Given the description of an element on the screen output the (x, y) to click on. 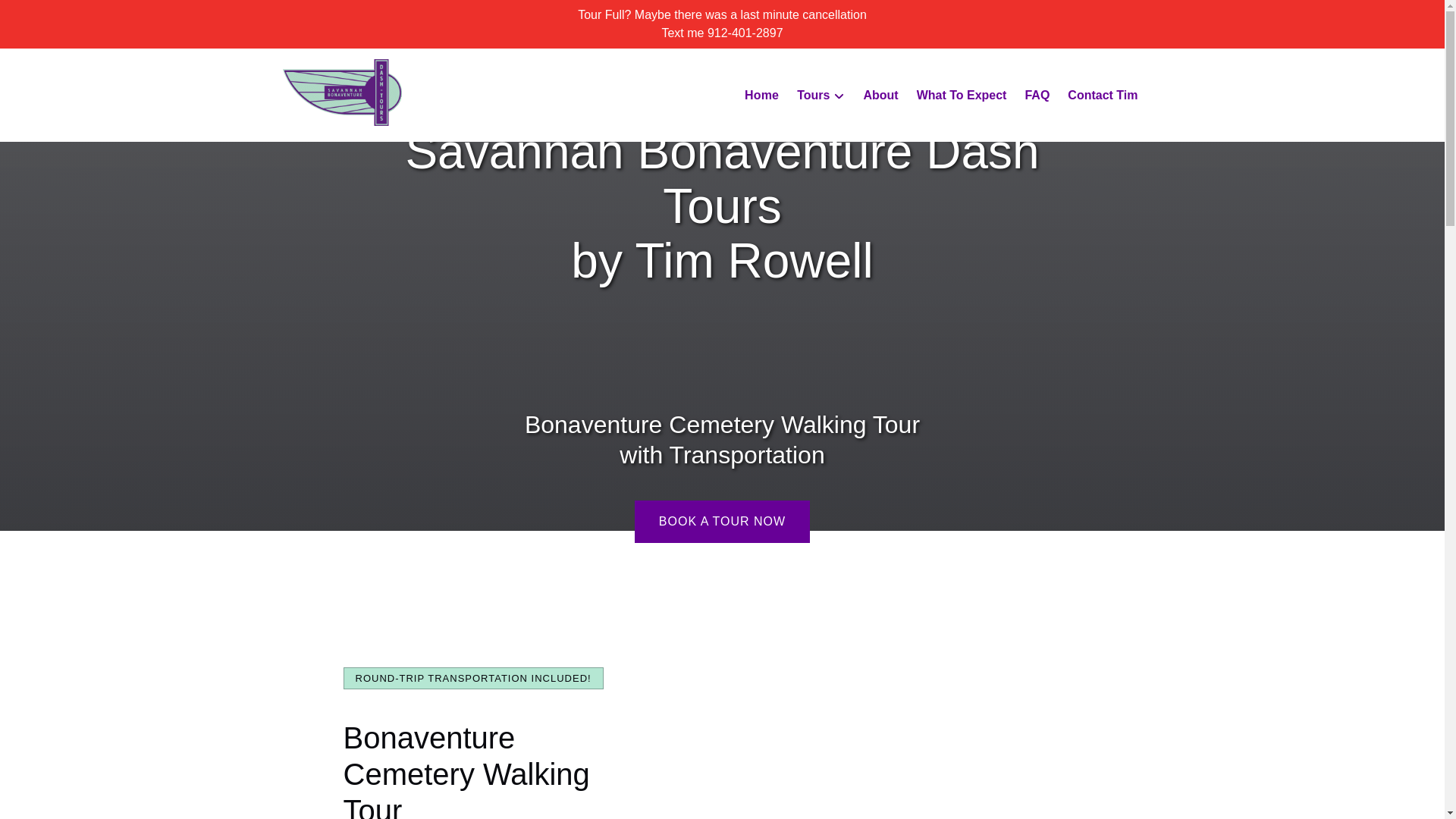
About (880, 94)
Bonaventure Cemetery Walking Tour (465, 770)
What To Expect (961, 94)
Skip to footer (42, 16)
Skip to content (47, 16)
Open Tours Menu (823, 91)
FAQ (1036, 94)
Home (761, 94)
Tours (820, 94)
Click here to visit Bonaventure Cemetery Walking Tour (465, 770)
